Given the description of an element on the screen output the (x, y) to click on. 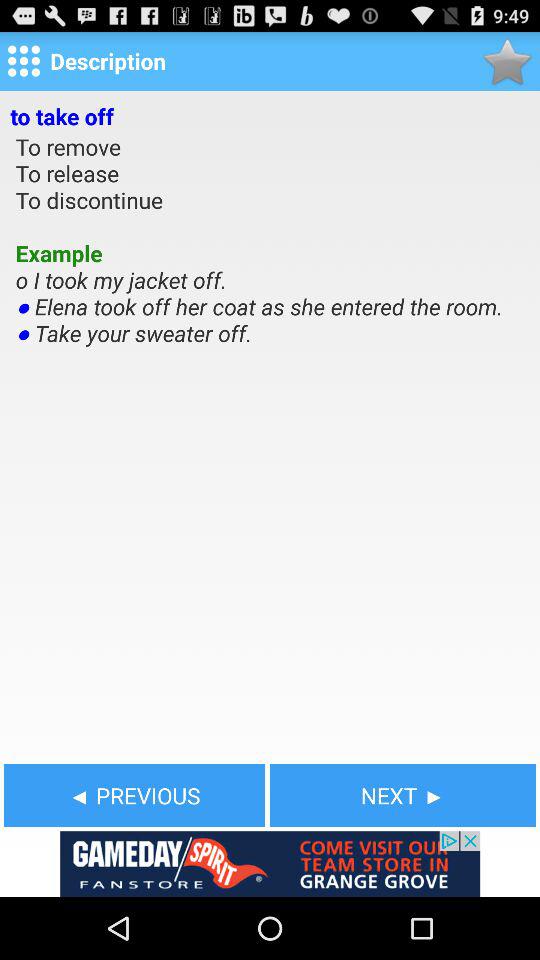
show advertisements detail (270, 864)
